Given the description of an element on the screen output the (x, y) to click on. 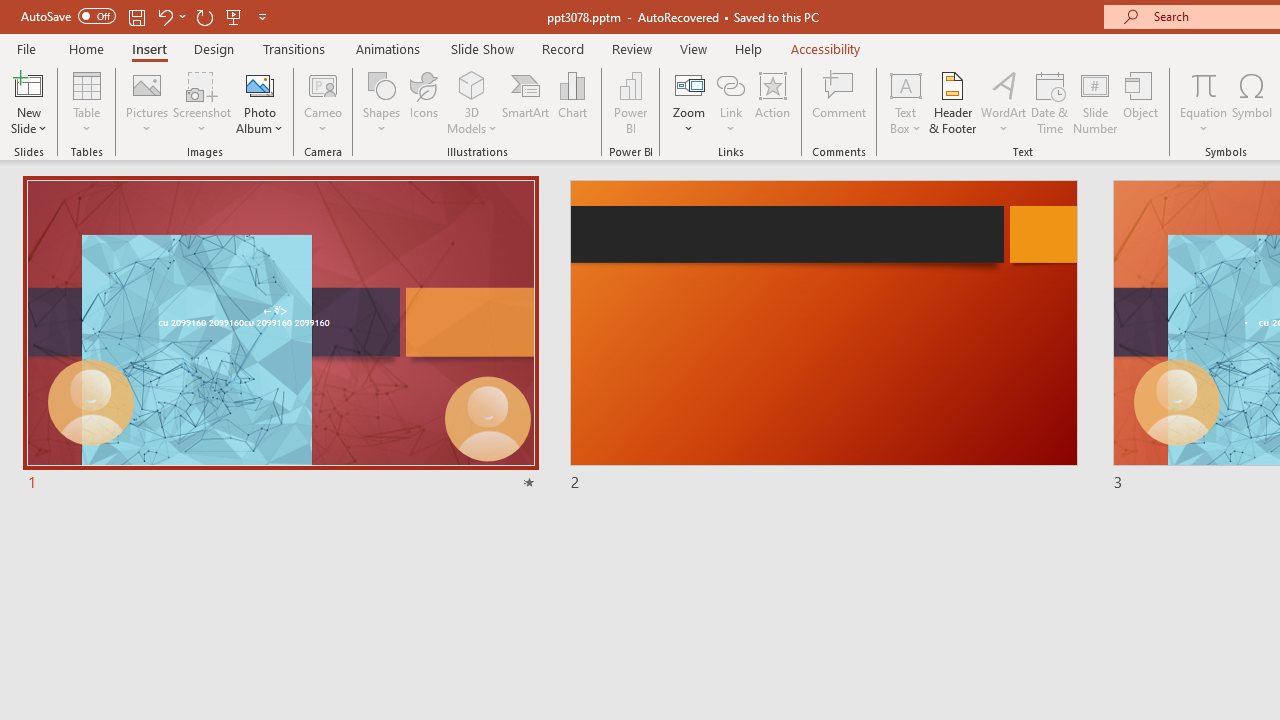
Screenshot (202, 102)
Comment (839, 102)
Icons (424, 102)
Table (86, 102)
Link (731, 84)
Slide Number (1095, 102)
